Given the description of an element on the screen output the (x, y) to click on. 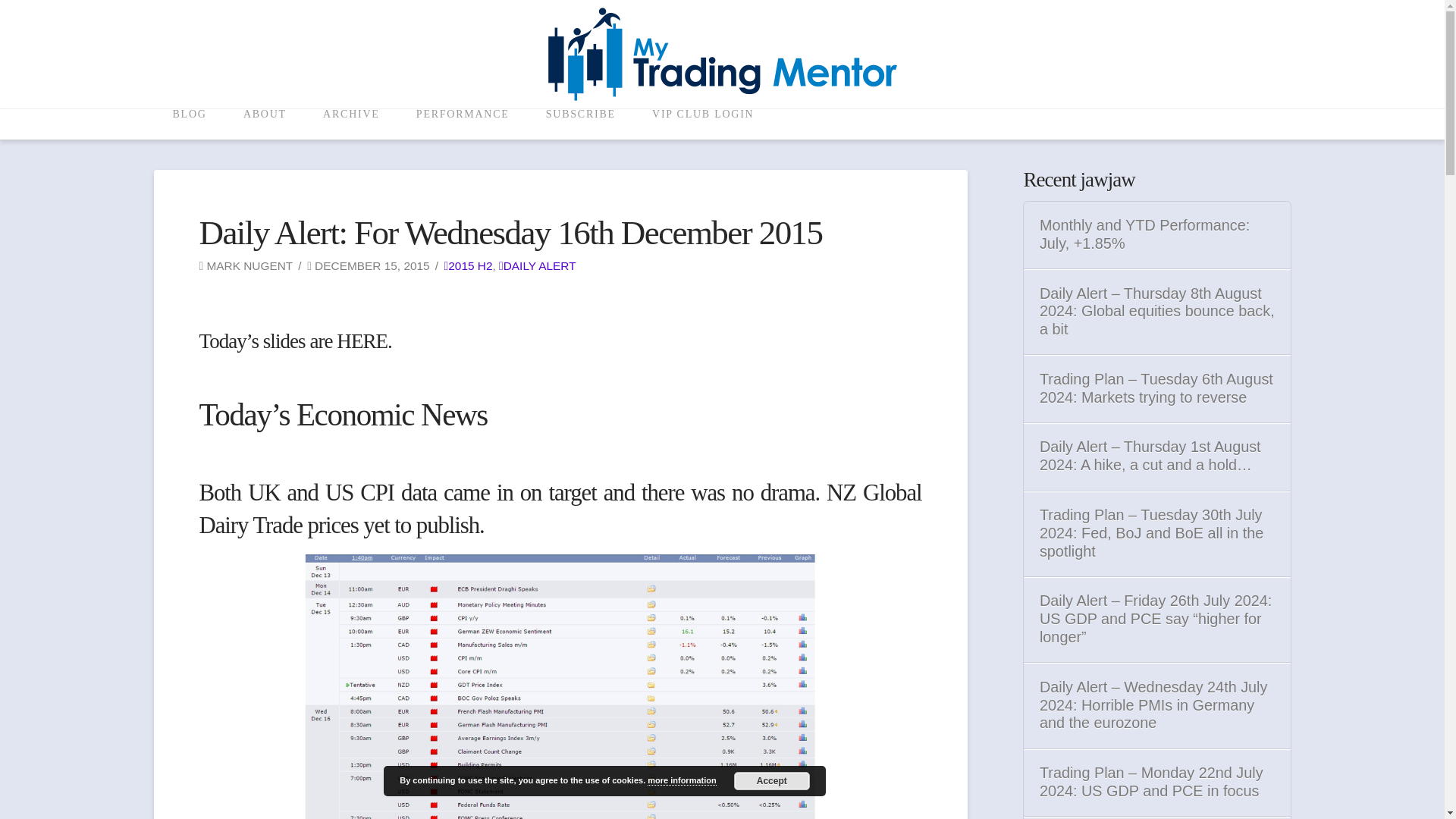
HERE. (363, 341)
VIP CLUB LOGIN (702, 123)
ABOUT (264, 123)
DAILY ALERT (537, 265)
BLOG (188, 123)
SUBSCRIBE (580, 123)
ARCHIVE (350, 123)
2015 H2 (468, 265)
PERFORMANCE (462, 123)
